Given the description of an element on the screen output the (x, y) to click on. 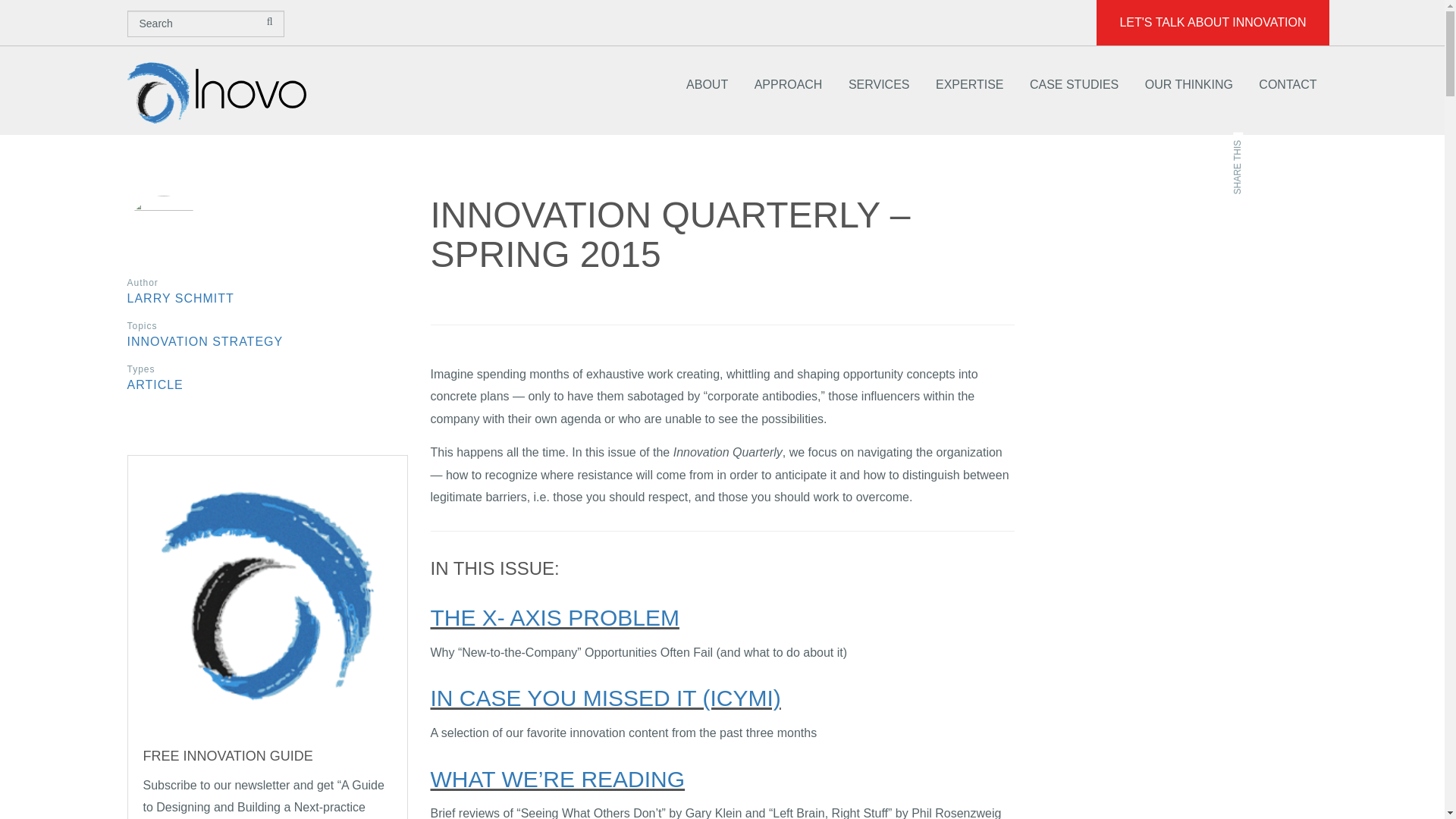
Approach (788, 84)
LET'S TALK ABOUT INNOVATION (1211, 22)
Services (879, 84)
About (706, 84)
